Given the description of an element on the screen output the (x, y) to click on. 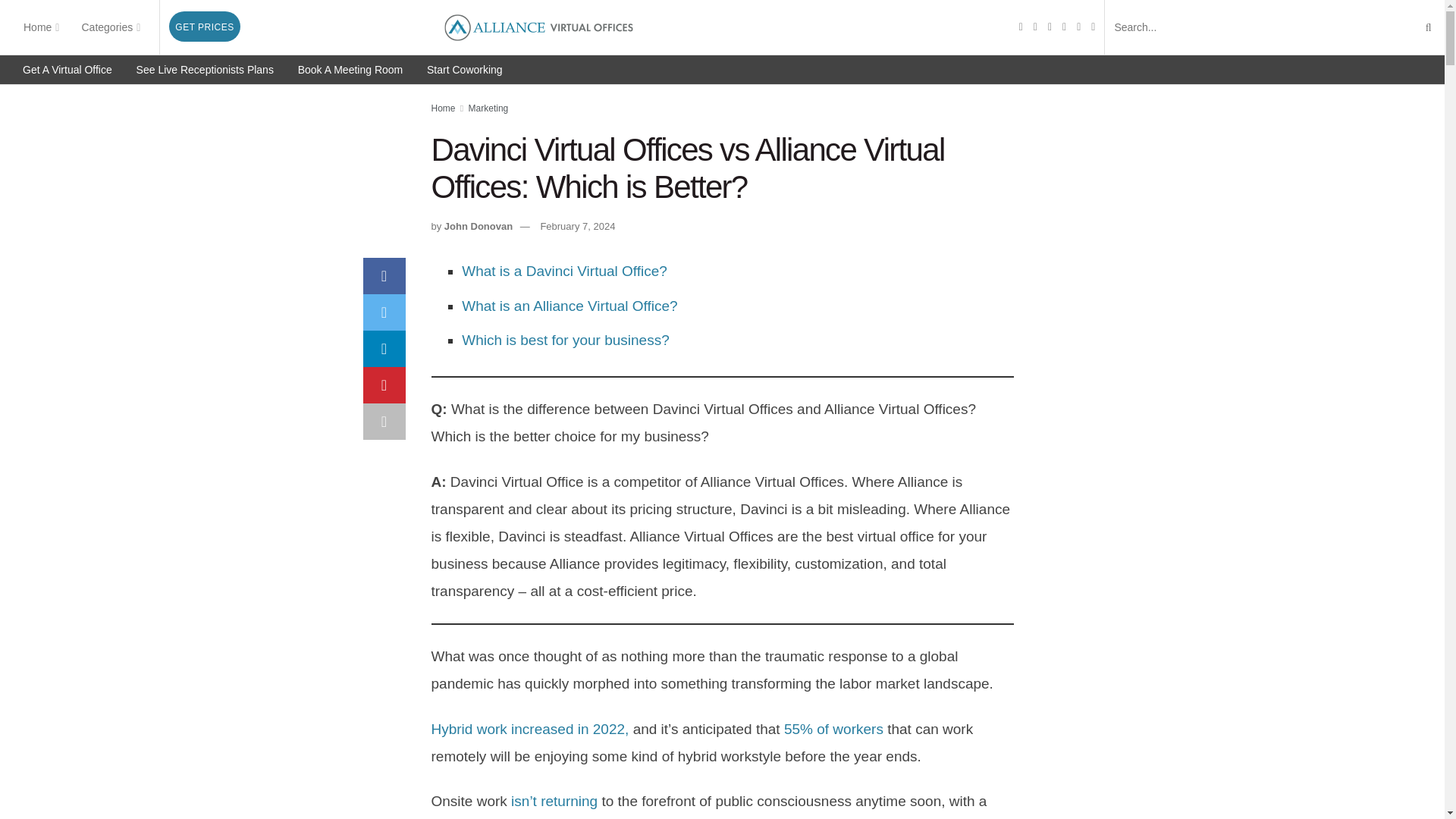
Start Coworking (464, 69)
Marketing (488, 108)
See Live Receptionists Plans (204, 69)
Home (442, 108)
Home (39, 27)
Book A Meeting Room (350, 69)
Get A Virtual Office (67, 69)
GET PRICES (204, 26)
Categories (108, 27)
